Given the description of an element on the screen output the (x, y) to click on. 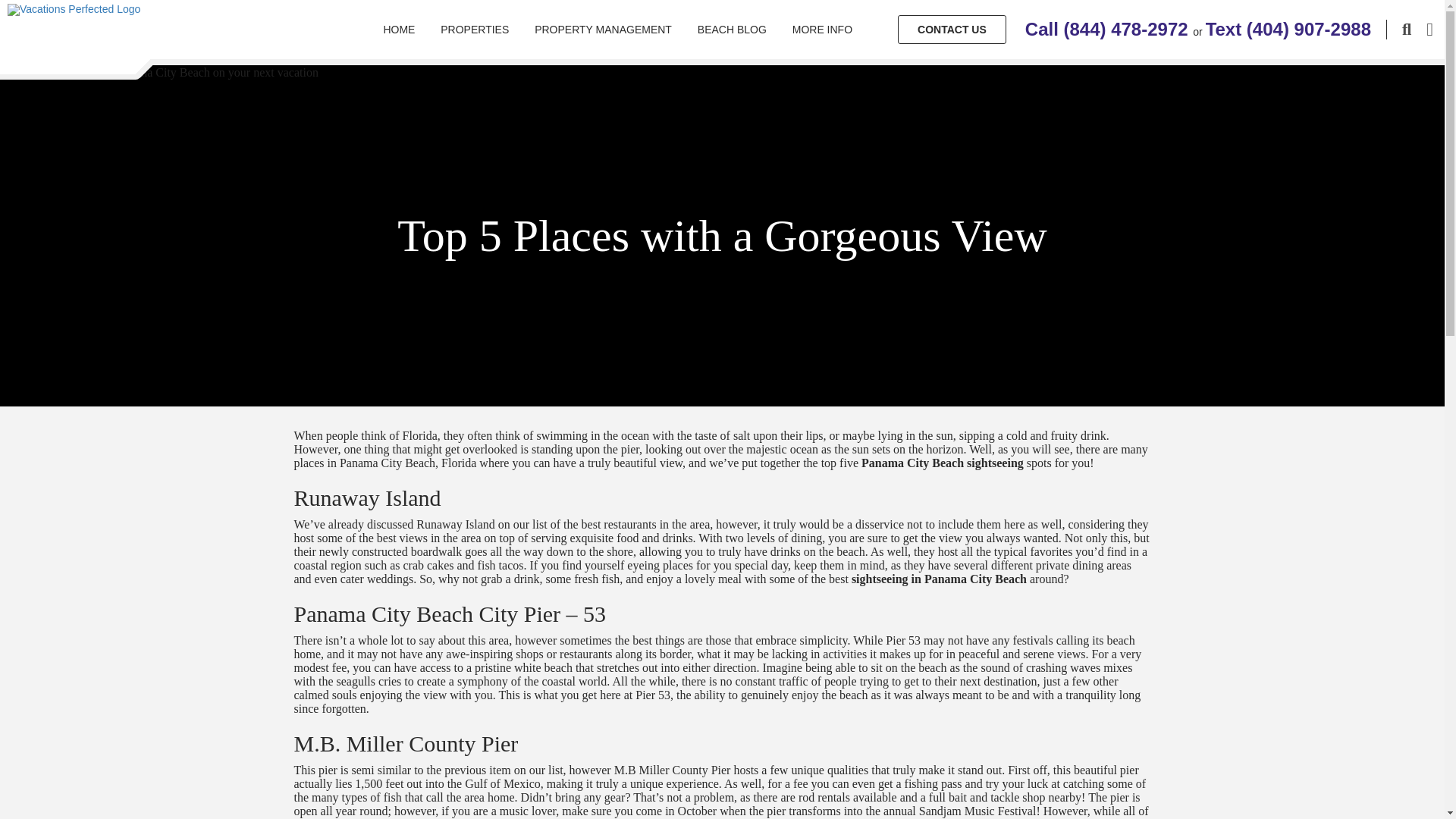
CONTACT US (952, 29)
Enjoy sightseeing in Panama City Beach on your next vacation (159, 72)
BEACH BLOG (731, 29)
PROPERTIES (474, 29)
PROPERTY MANAGEMENT (602, 29)
MORE INFO (821, 29)
HOME (398, 29)
Vacations Perfected Logo (73, 9)
